Given the description of an element on the screen output the (x, y) to click on. 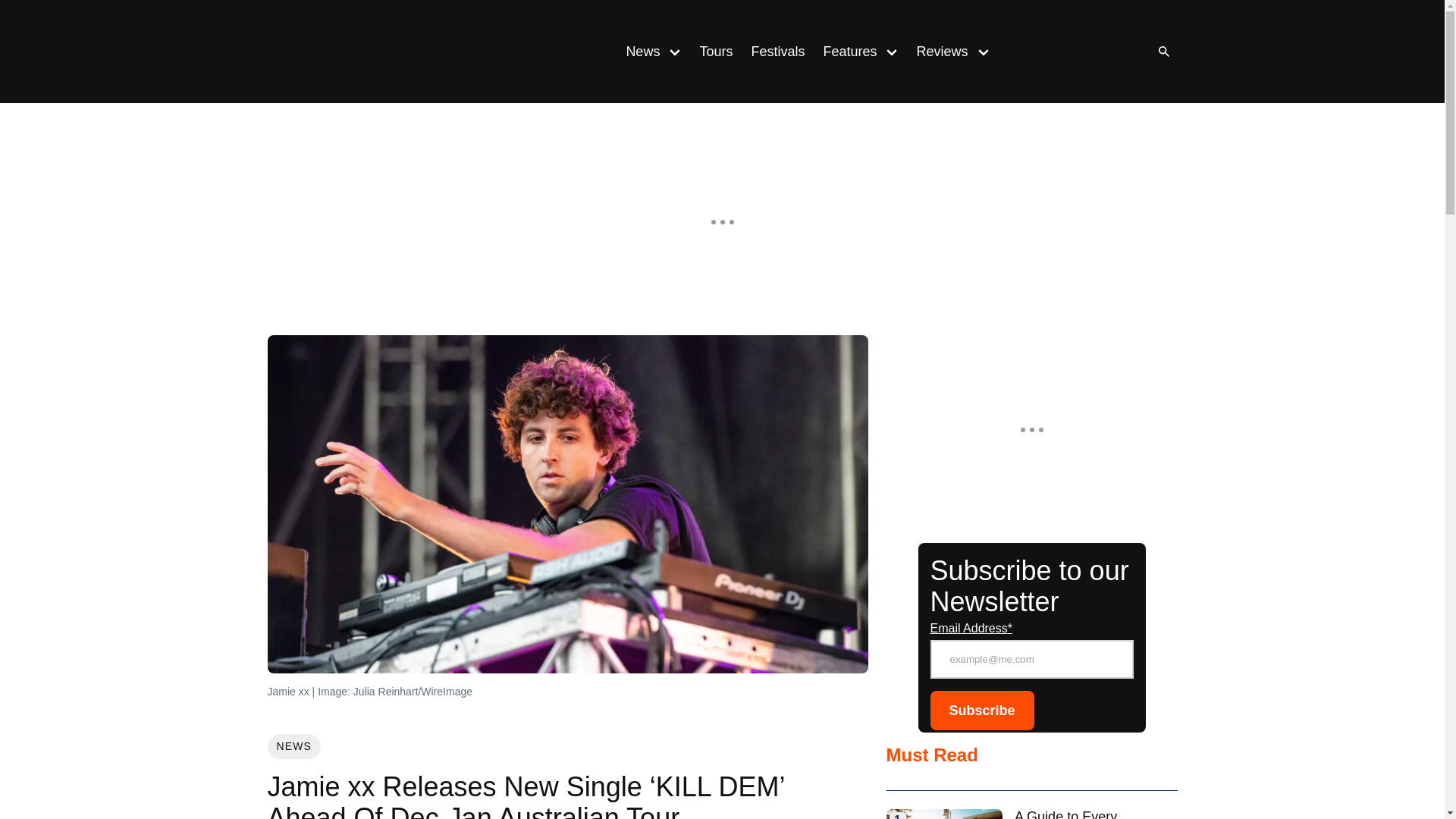
Festivals (777, 51)
Reviews (937, 51)
Instagram (1048, 51)
Open menu (982, 51)
Twitter (1109, 51)
Features (844, 51)
Tours (715, 51)
Facebook (1079, 51)
Open menu (674, 51)
Open menu (891, 51)
NEWS (293, 746)
